Given the description of an element on the screen output the (x, y) to click on. 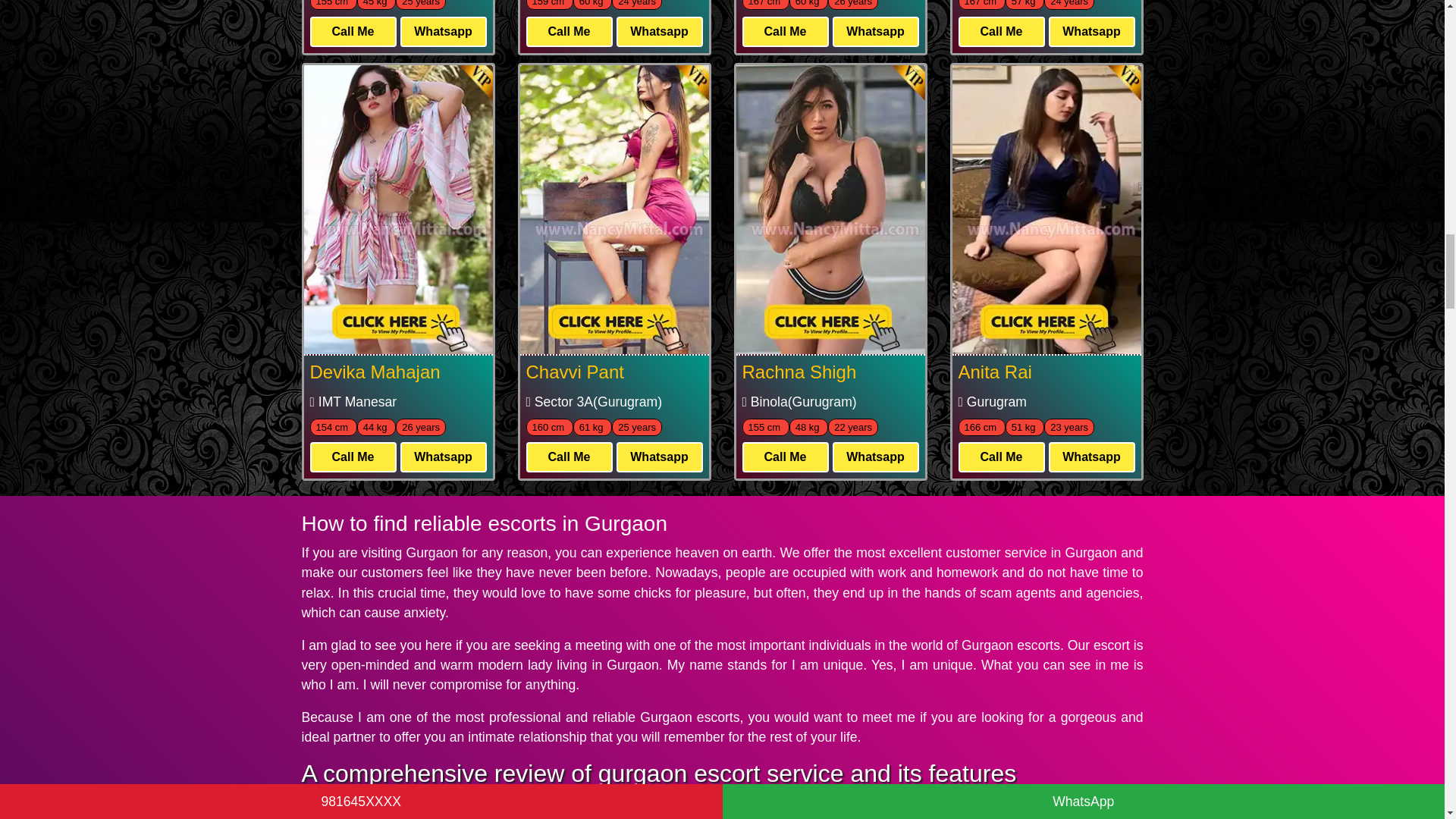
Call Me (568, 31)
Whatsapp (658, 31)
Whatsapp (443, 31)
Call Me (784, 31)
Call Me (352, 31)
Whatsapp (875, 31)
